Given the description of an element on the screen output the (x, y) to click on. 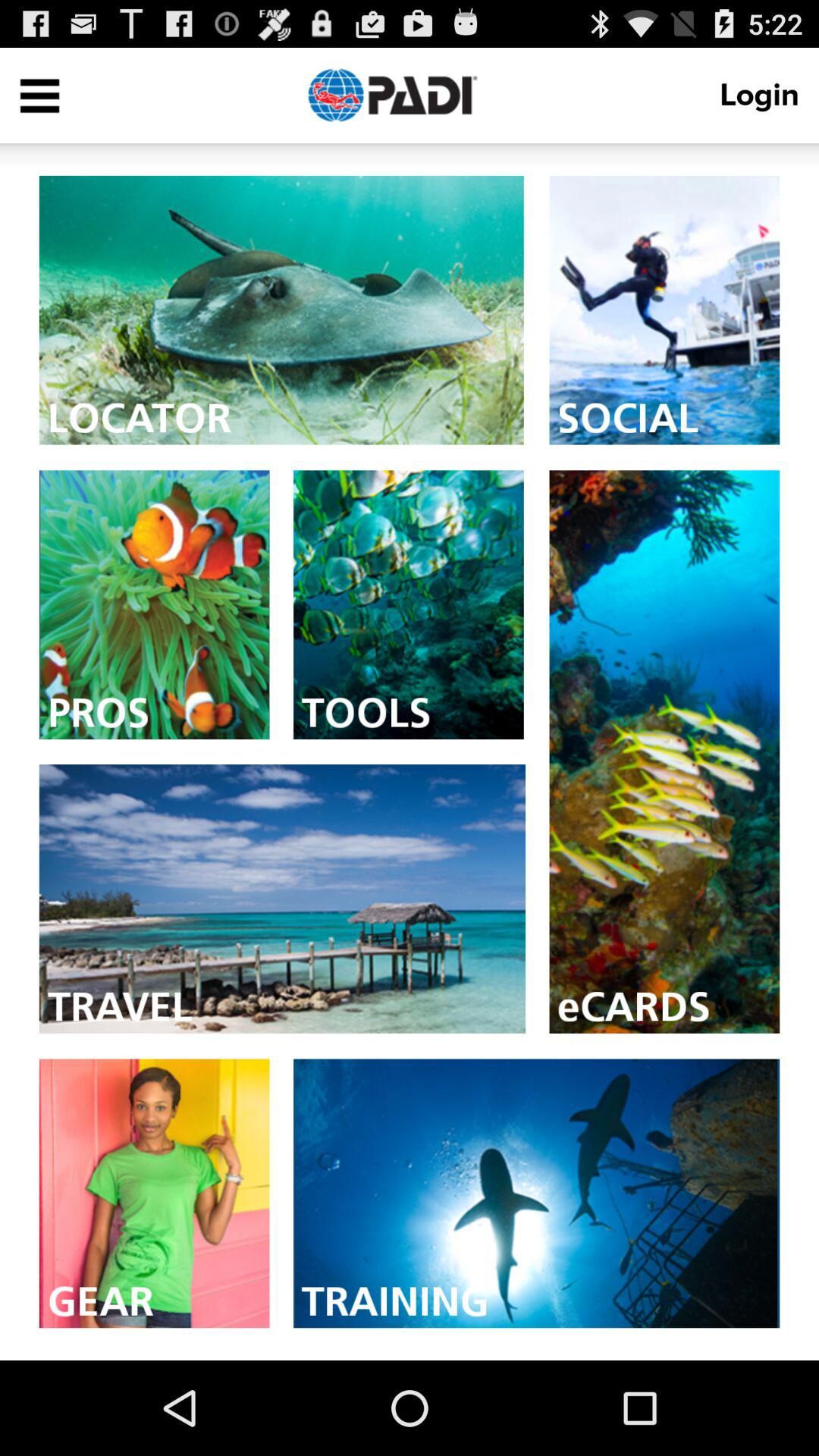
go to website (664, 309)
